Given the description of an element on the screen output the (x, y) to click on. 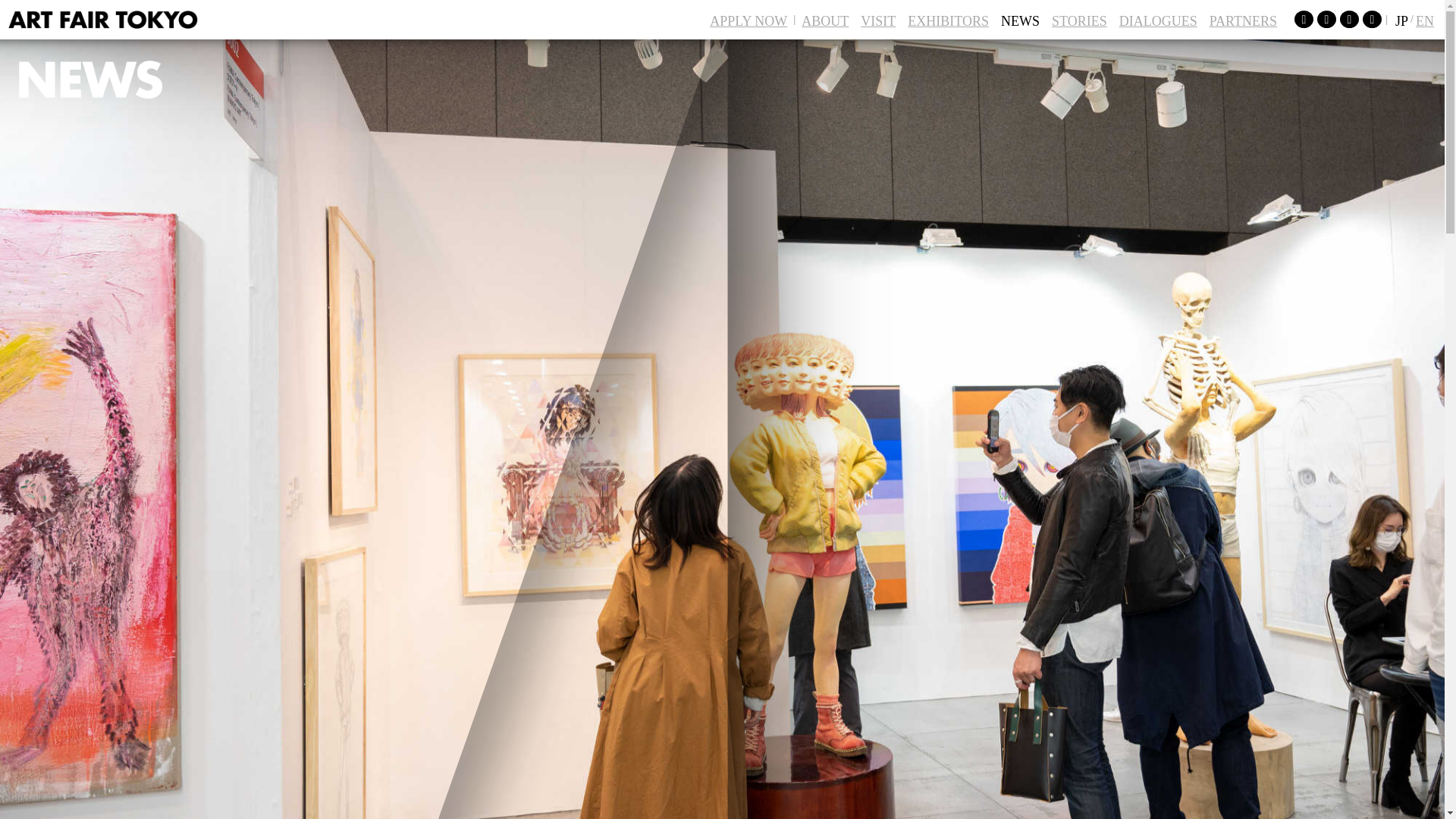
NEWS (1019, 20)
APPLY NOW (748, 20)
EXHIBITORS (947, 20)
STORIES (1079, 20)
DIALOGUES (1158, 20)
VISIT (877, 20)
ABOUT (824, 20)
PARTNERS (1243, 20)
